Given the description of an element on the screen output the (x, y) to click on. 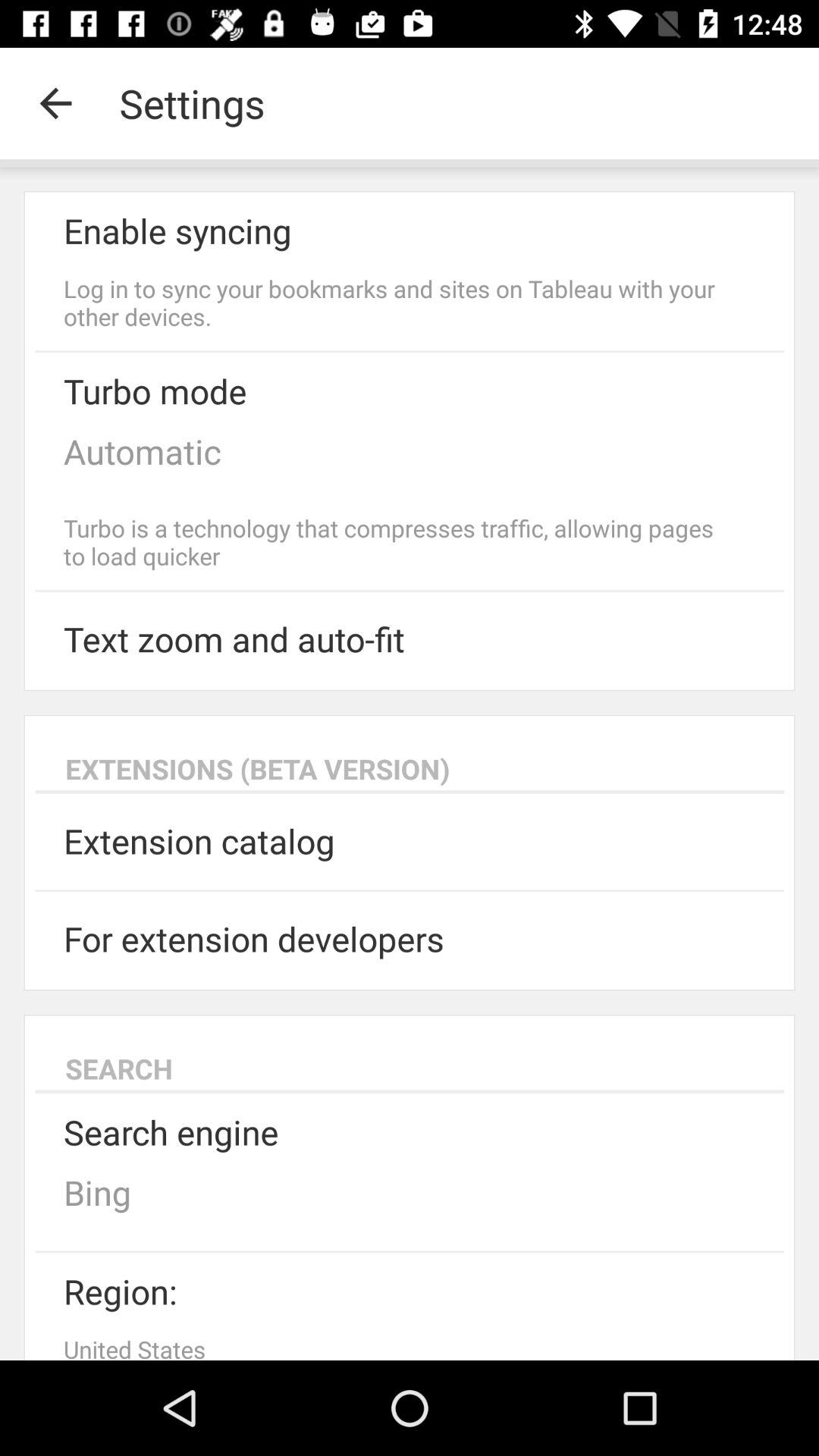
turn on icon above enable syncing icon (55, 103)
